Given the description of an element on the screen output the (x, y) to click on. 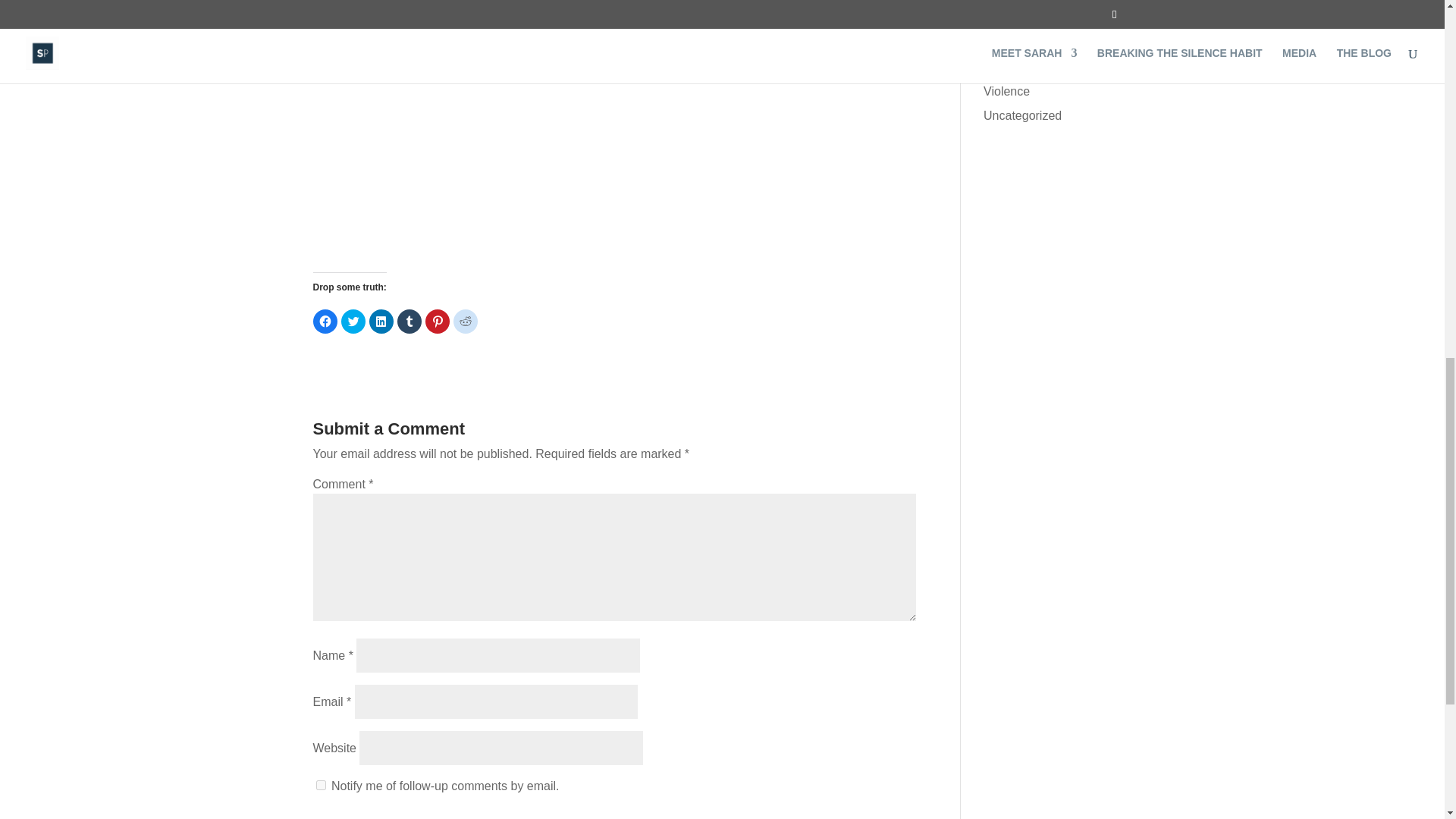
Data, research, and facts about sexual violence (1035, 81)
Click to share on LinkedIn (380, 321)
Click to share on Tumblr (409, 321)
Click to share on Pinterest (436, 321)
Click to share on Reddit (464, 321)
Click to share on Facebook (324, 321)
subscribe (319, 785)
Click to share on Twitter (352, 321)
